Given the description of an element on the screen output the (x, y) to click on. 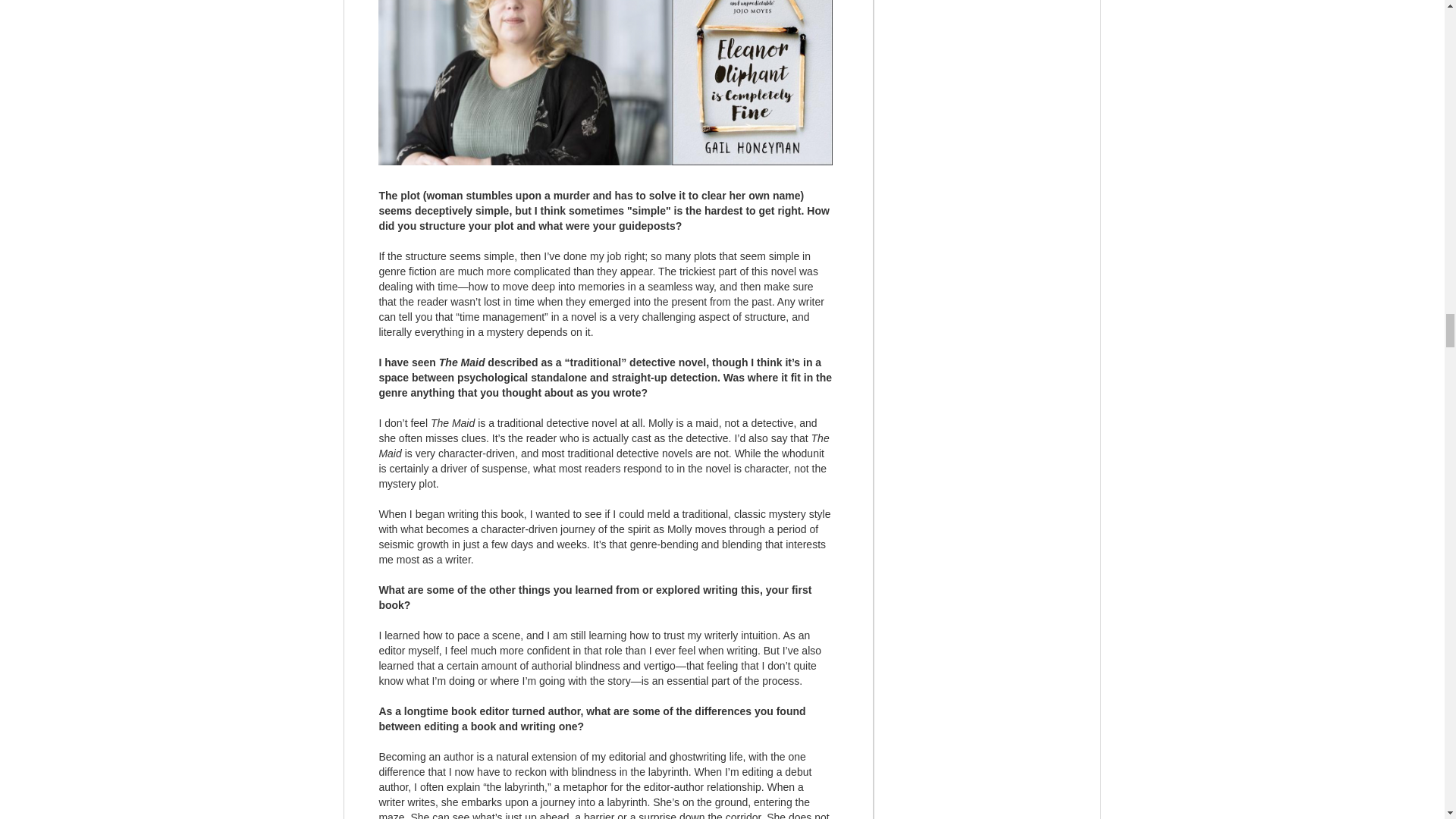
Eleanor Oliphant in Completely Fine by Gail Honeyman (604, 82)
